Given the description of an element on the screen output the (x, y) to click on. 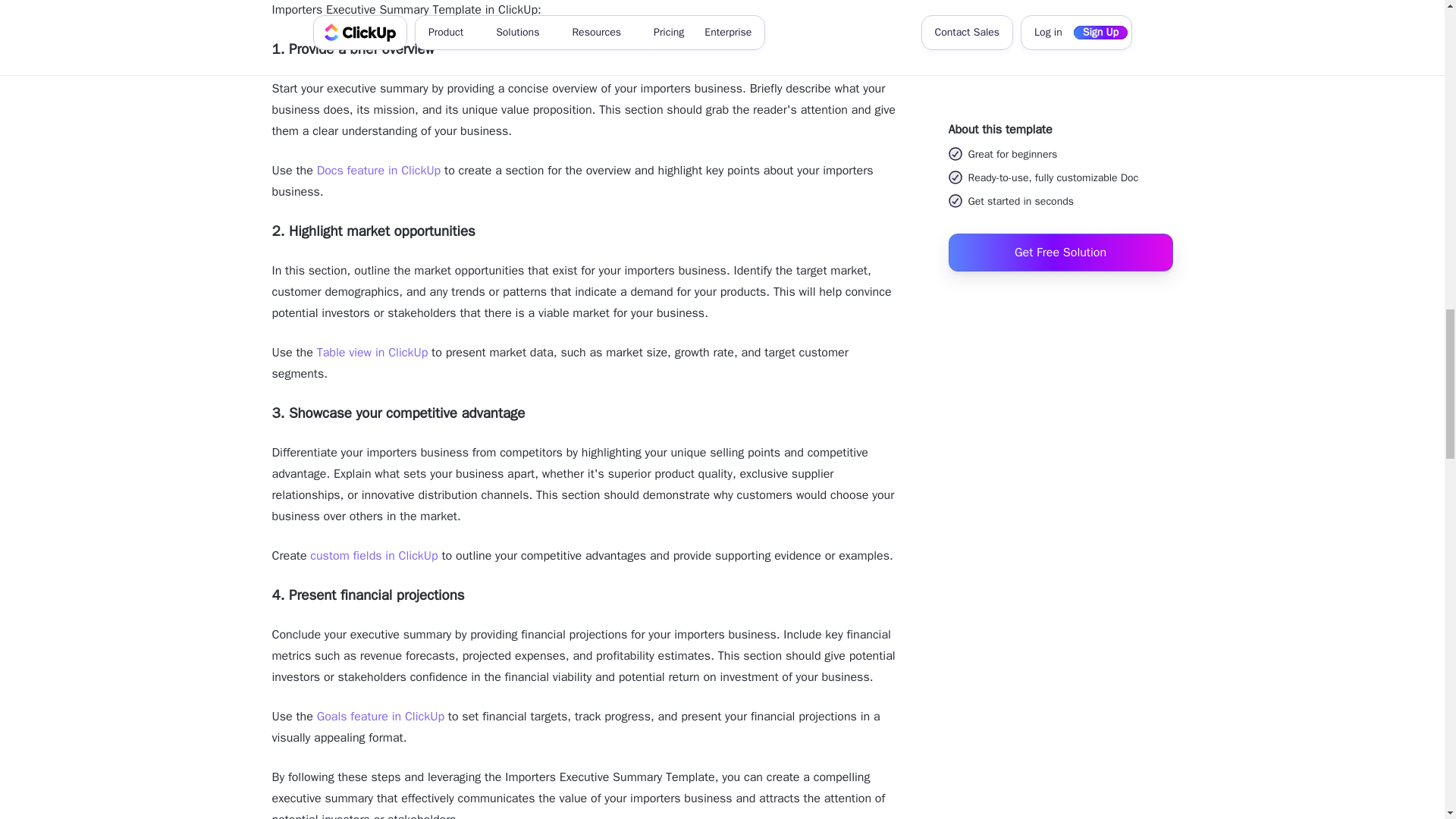
custom fields in ClickUp (374, 555)
Docs feature in ClickUp (379, 170)
Goals feature in ClickUp (380, 716)
Table view in ClickUp (372, 352)
